Given the description of an element on the screen output the (x, y) to click on. 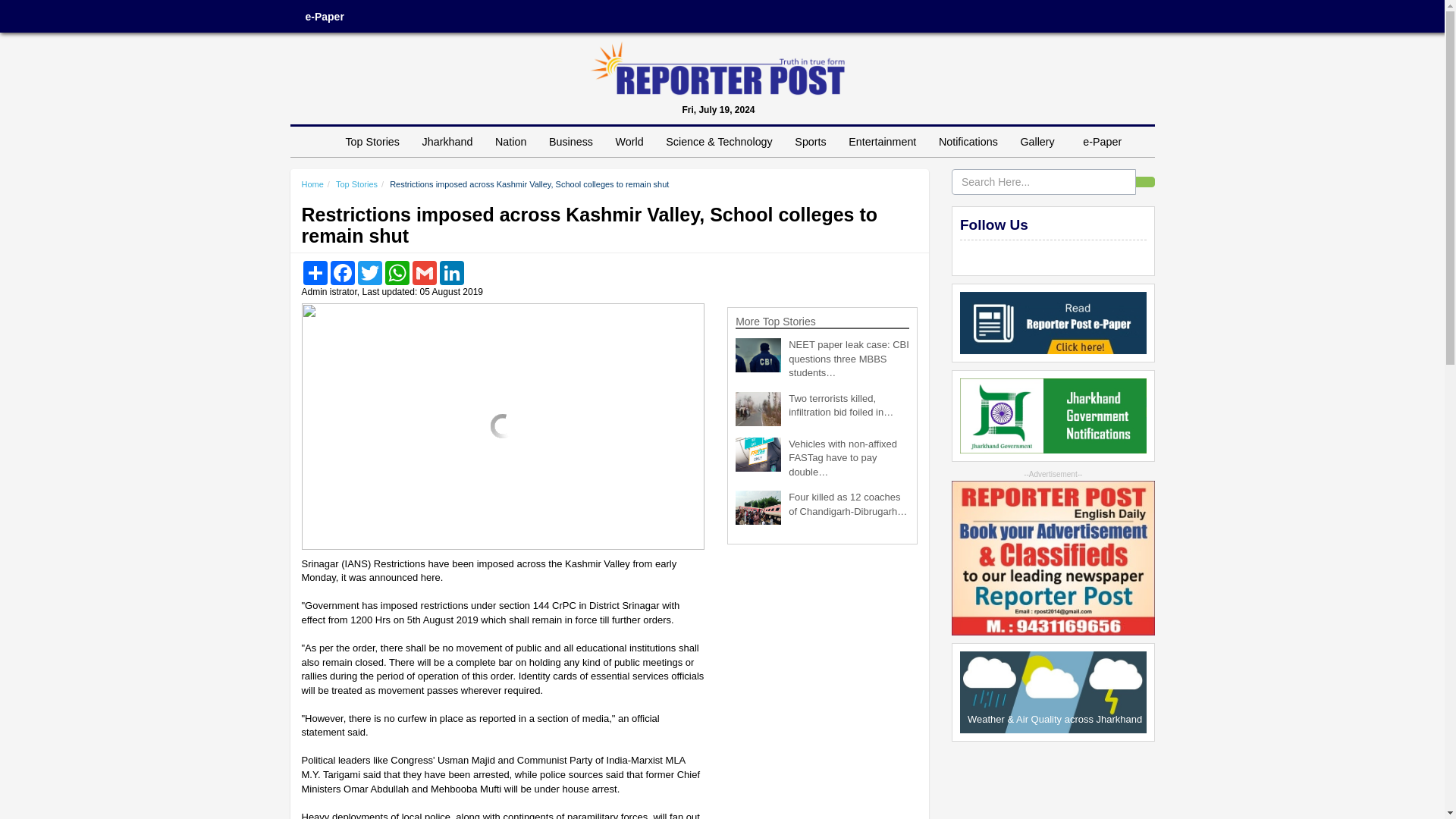
Gallery   (1040, 141)
Reporter Post (717, 68)
Business (570, 141)
Jharkhand (447, 141)
Entertainment (882, 141)
World (629, 141)
Top Stories (371, 141)
e-Paper (1102, 141)
Sports (809, 141)
Read Reporter Post ePaper (1053, 322)
Notifications (967, 141)
Nation (509, 141)
e-Paper (323, 16)
